Given the description of an element on the screen output the (x, y) to click on. 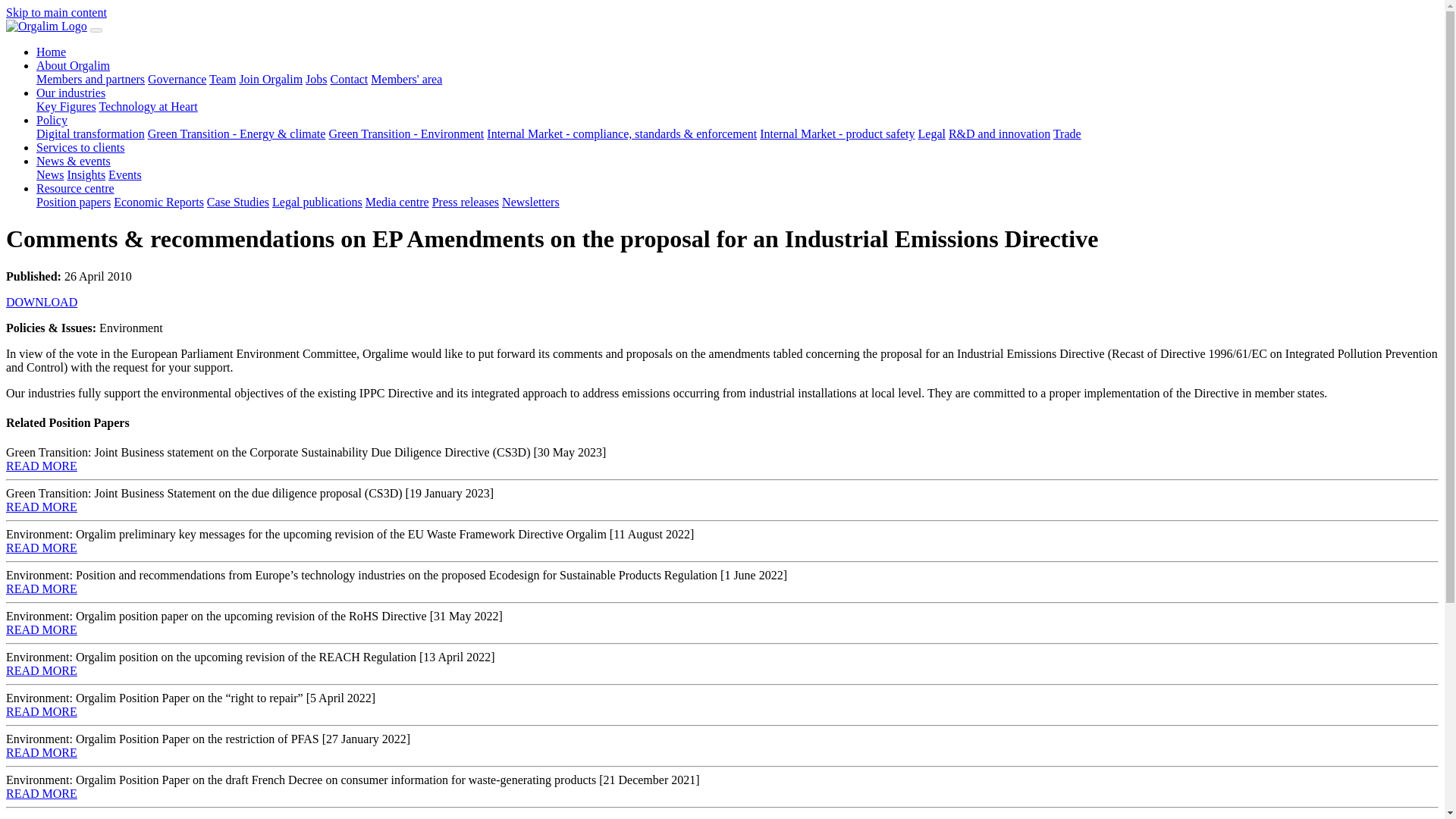
Legal (931, 133)
Technology at Heart (147, 106)
Contact (349, 78)
Internal Market - product safety (837, 133)
Governance (177, 78)
Resource centre (75, 187)
Join Orgalim (270, 78)
Trade (1066, 133)
Case Studies (237, 201)
Legal publications (317, 201)
